Given the description of an element on the screen output the (x, y) to click on. 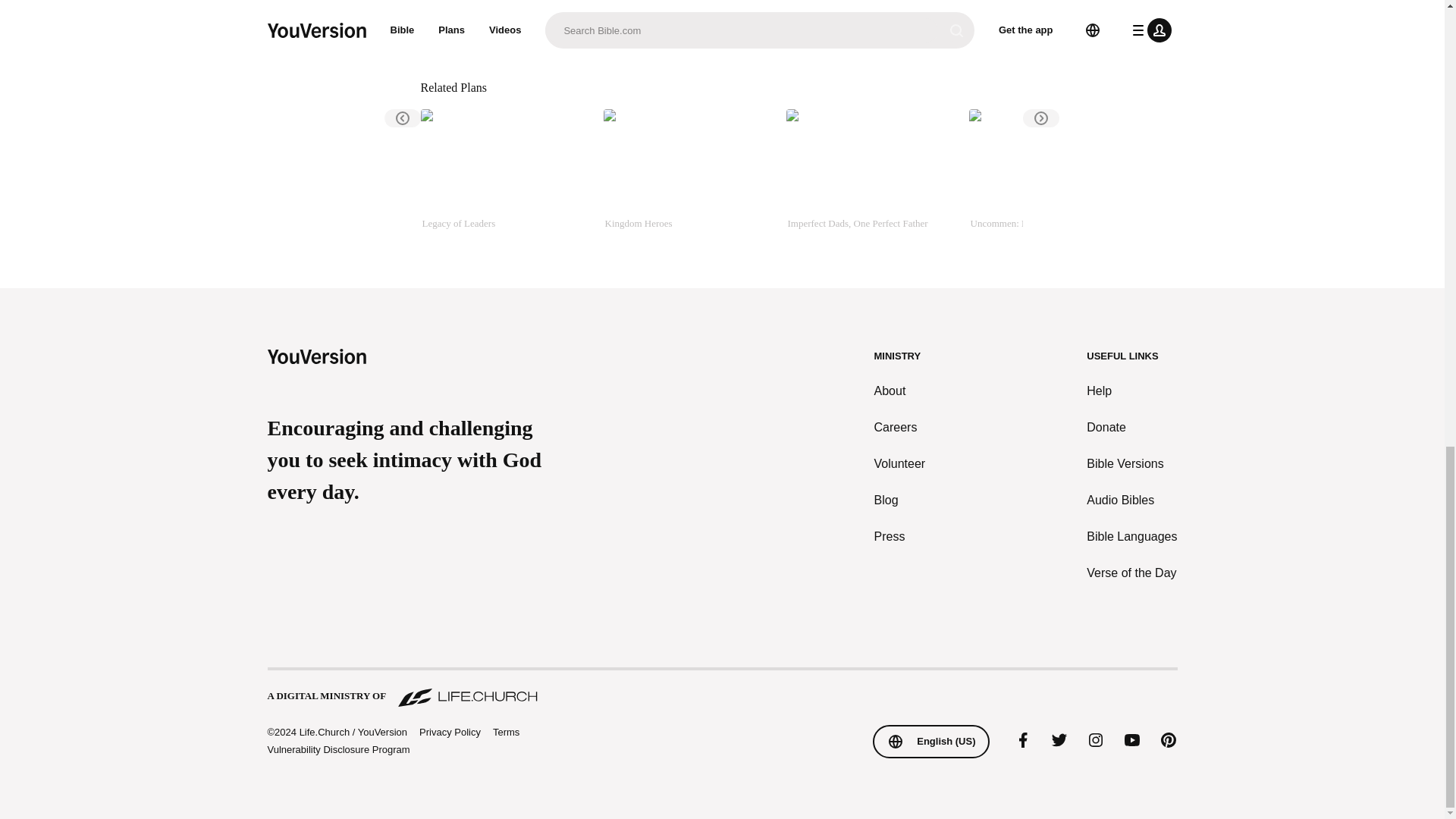
Bible Versions (1131, 464)
Verse of the Day (1131, 573)
Imperfect Dads, One Perfect Father (871, 176)
About The Publisher (514, 30)
Press (900, 536)
Kingdom Heroes (689, 176)
Uncommen: Dad Strong (1054, 176)
Bible Languages (1131, 536)
Privacy Policy (449, 732)
Careers (900, 427)
Legacy of Leaders (505, 176)
Volunteer (900, 464)
Blog (900, 500)
Help (1131, 391)
Audio Bibles (1131, 500)
